Given the description of an element on the screen output the (x, y) to click on. 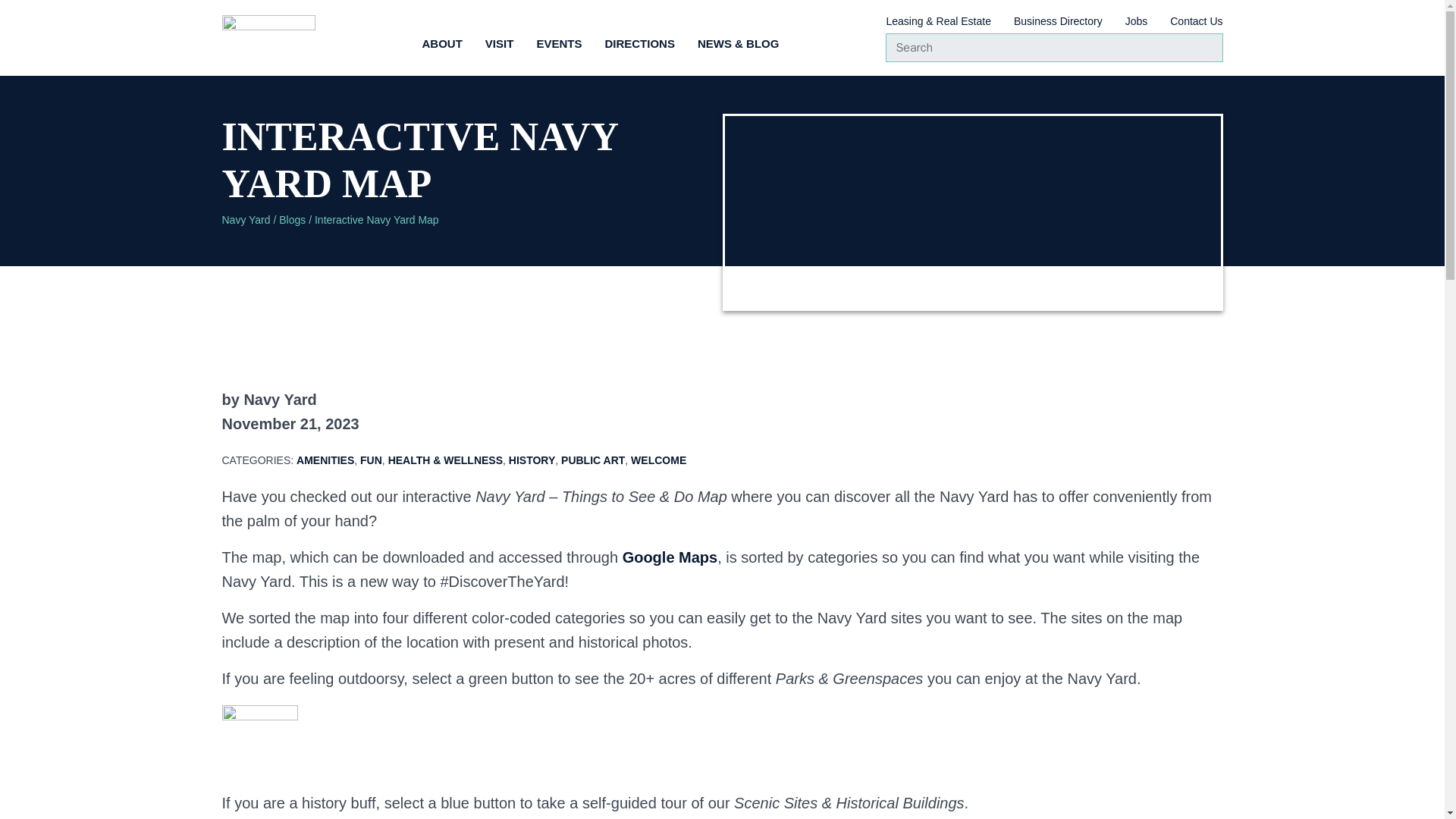
PUBLIC ART (592, 460)
Jobs (1136, 23)
AMENITIES (325, 460)
ABOUT (442, 45)
Google Maps (670, 556)
DIRECTIONS (639, 45)
WELCOME (657, 460)
Contact Us (1196, 23)
HISTORY (531, 460)
Blogs (292, 219)
